Given the description of an element on the screen output the (x, y) to click on. 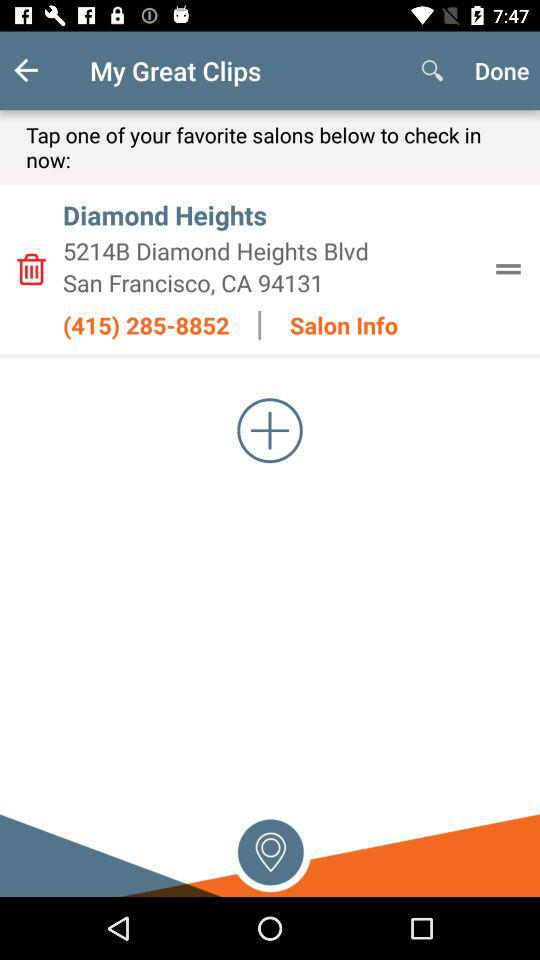
turn on item to the left of done item (432, 70)
